Given the description of an element on the screen output the (x, y) to click on. 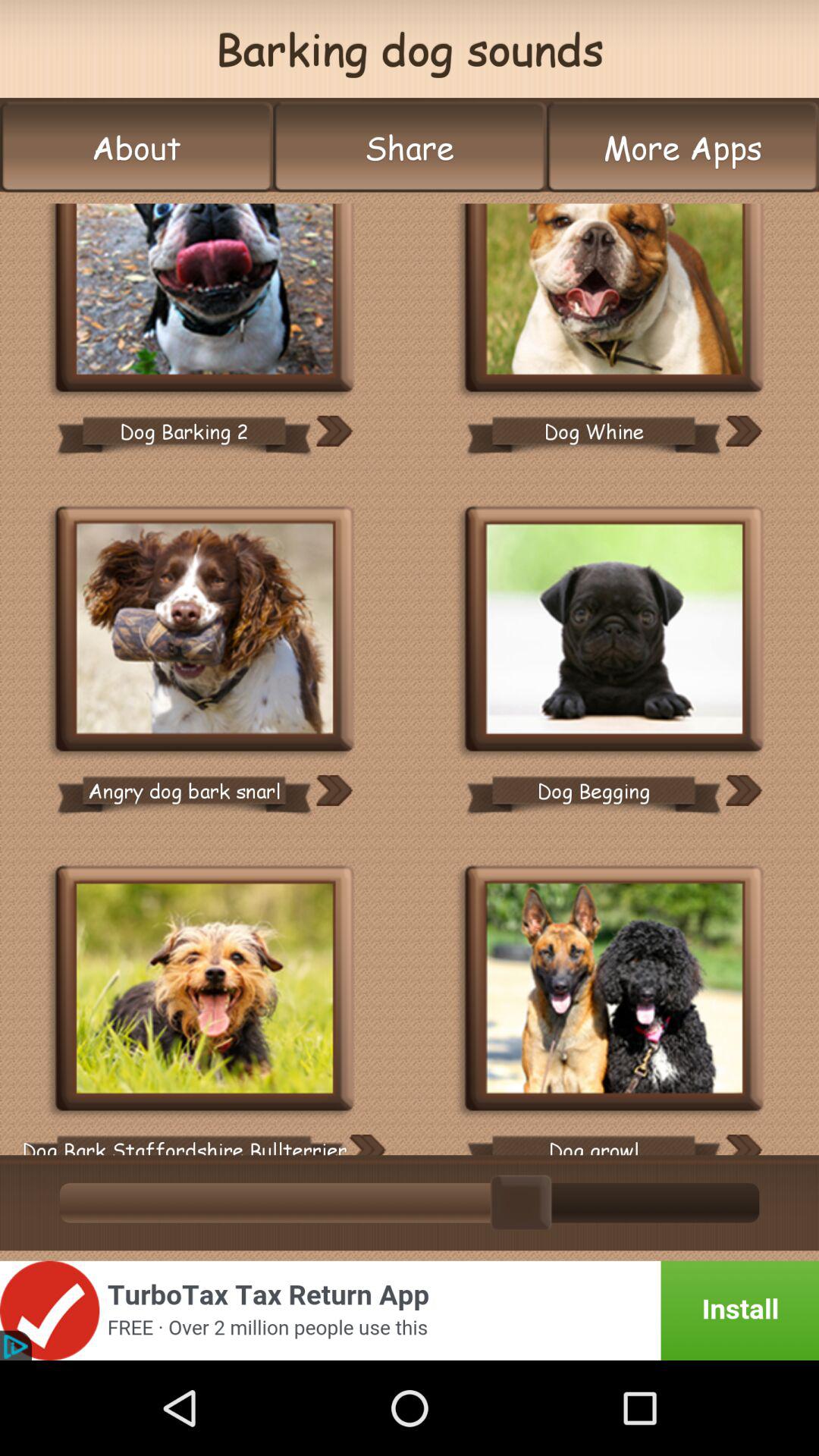
go to profile (204, 298)
